Given the description of an element on the screen output the (x, y) to click on. 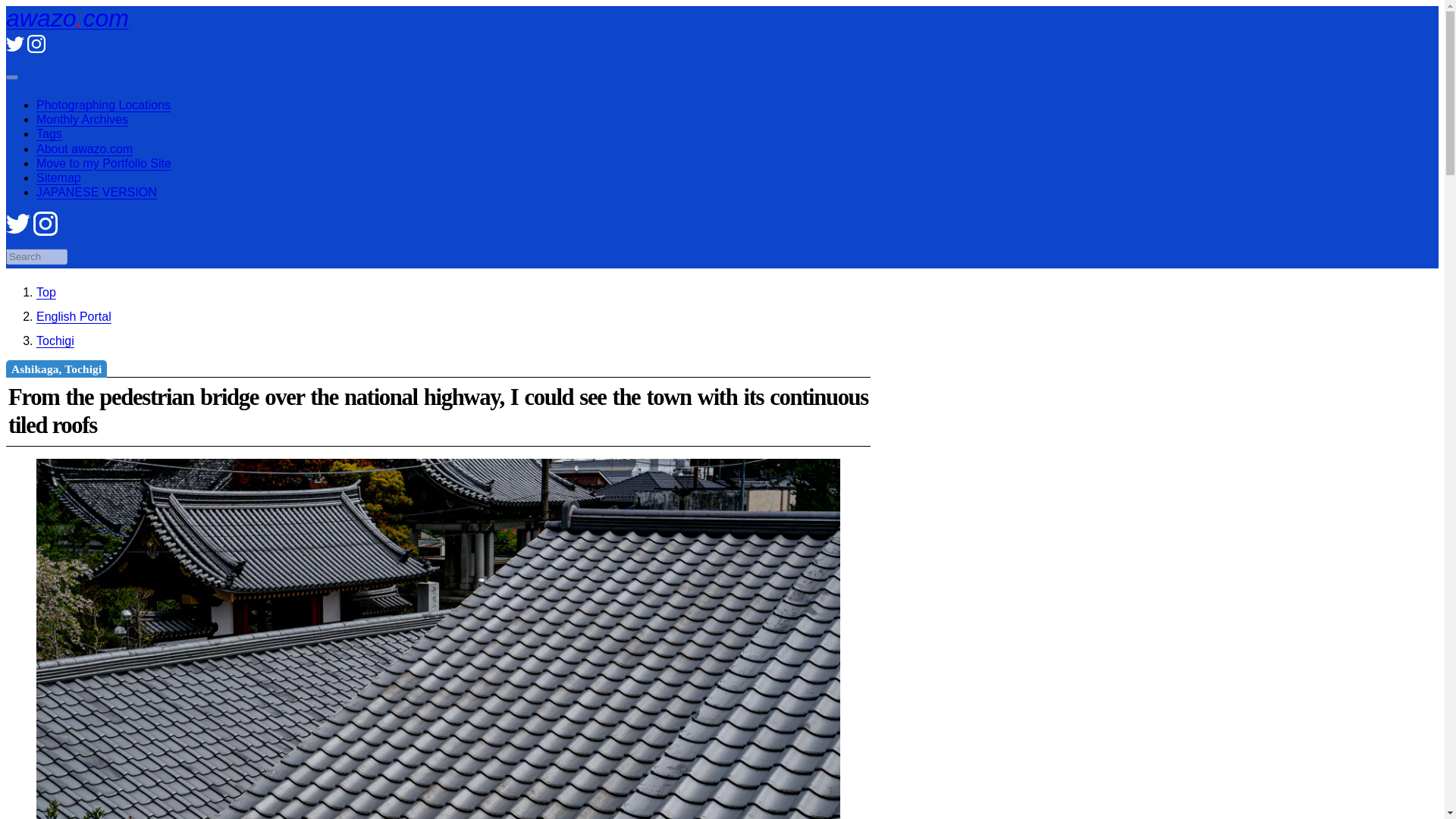
awazo.com (46, 291)
English Portal (74, 316)
Twitter (14, 48)
Move to my Portfolio Site (103, 163)
English Portal (74, 316)
Sitemap (58, 177)
Tochigi (55, 340)
Tags (49, 133)
Instagram (36, 48)
Monthly Archives (82, 119)
